Given the description of an element on the screen output the (x, y) to click on. 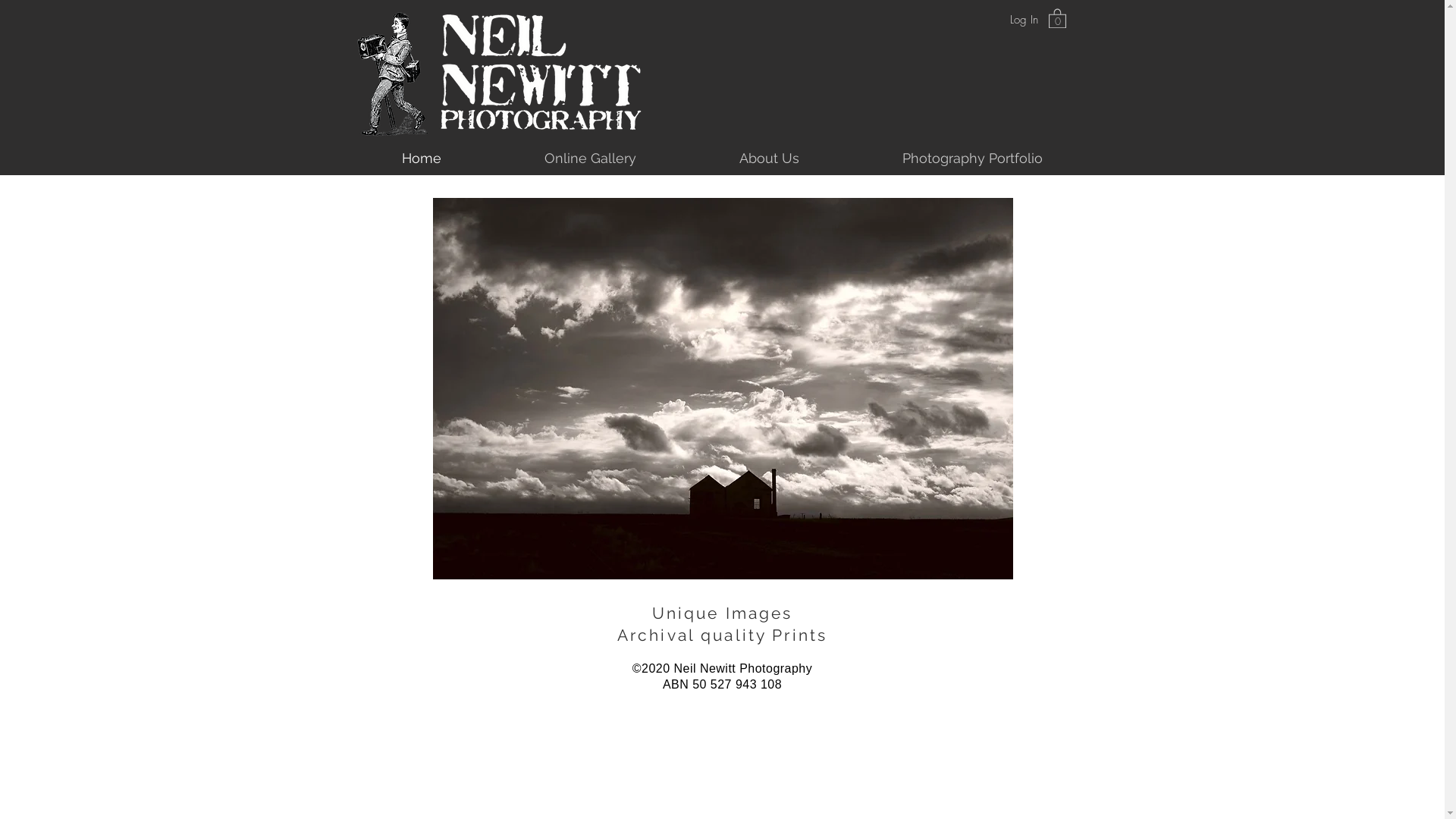
Embedded Content Element type: hover (722, 712)
About Us Element type: text (769, 158)
0 Element type: text (1056, 17)
Log In Element type: text (1023, 19)
Photography Portfolio Element type: text (971, 158)
Online Gallery Element type: text (589, 158)
Home Element type: text (421, 158)
